Given the description of an element on the screen output the (x, y) to click on. 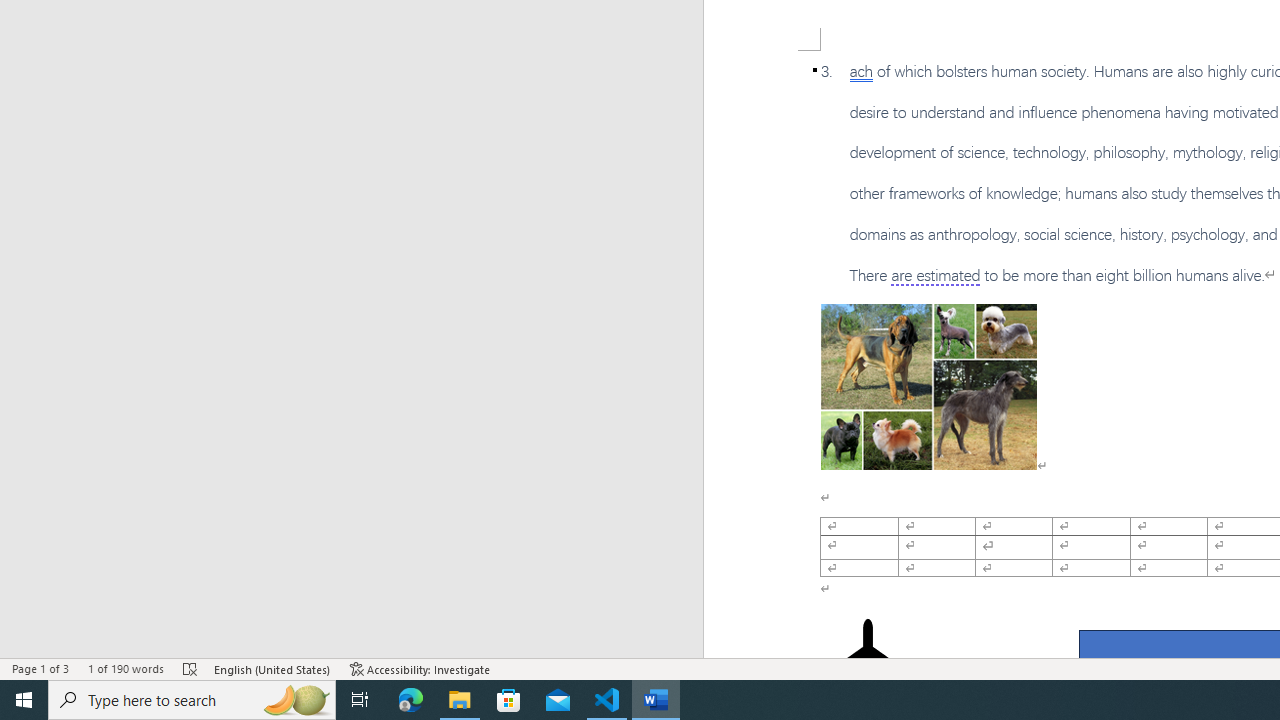
Morphological variation in six dogs (928, 386)
Spelling and Grammar Check Errors (191, 668)
Airplane with solid fill (867, 657)
Page Number Page 1 of 3 (39, 668)
Accessibility Checker Accessibility: Investigate (420, 668)
Language English (United States) (273, 668)
